Given the description of an element on the screen output the (x, y) to click on. 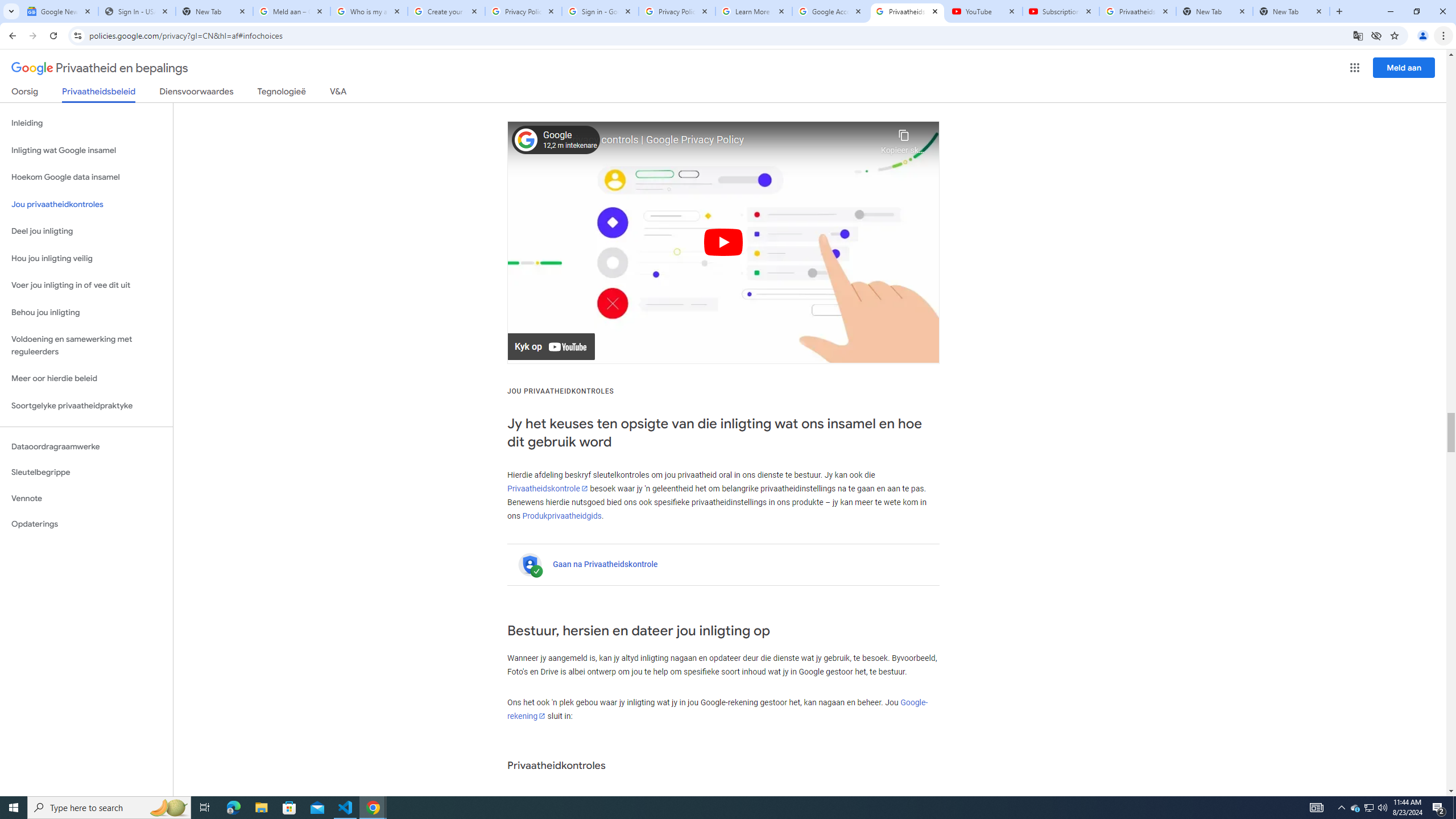
Gaan na Privaatheidskontrole (605, 564)
Privaatheidskontrole (547, 488)
Kopieer skakel (903, 139)
Jou privaatheidkontroles (86, 204)
Inligting wat Google insamel (86, 150)
Privaatheid en bepalings (99, 68)
Speel (723, 242)
Soortgelyke privaatheidpraktyke (86, 405)
Vennote (86, 497)
